Given the description of an element on the screen output the (x, y) to click on. 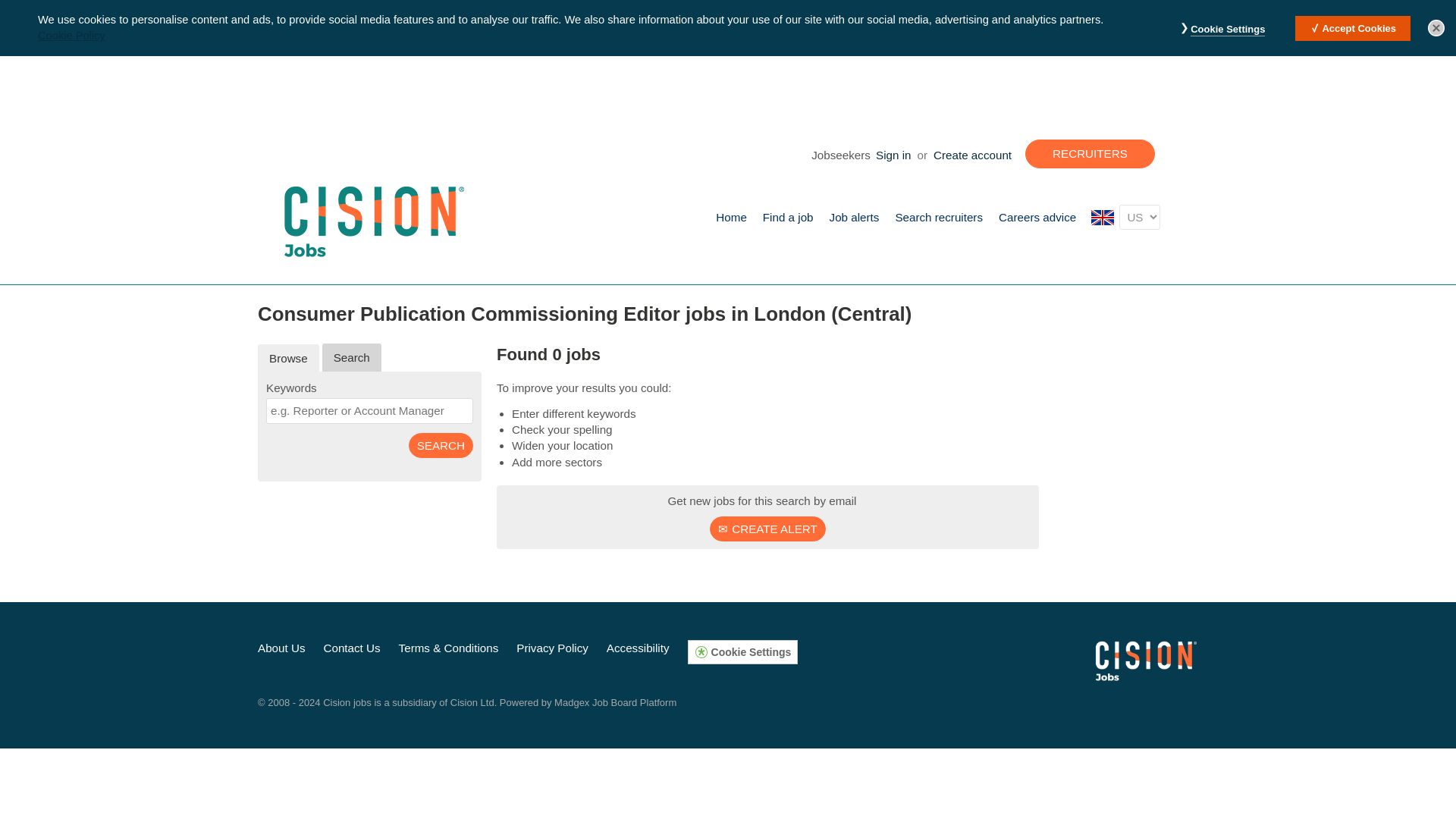
Search recruiters (938, 217)
Accept Cookies (1352, 28)
Create account (972, 154)
CREATE ALERT (767, 528)
More about cookies (860, 15)
Browse (287, 357)
Contact Us (351, 647)
Search (441, 445)
Home (731, 217)
About Us (280, 647)
Cookie Settings (1228, 29)
Cookie Settings (1228, 29)
Cision (1146, 659)
Accept Cookies (1352, 28)
Sign in (892, 154)
